Given the description of an element on the screen output the (x, y) to click on. 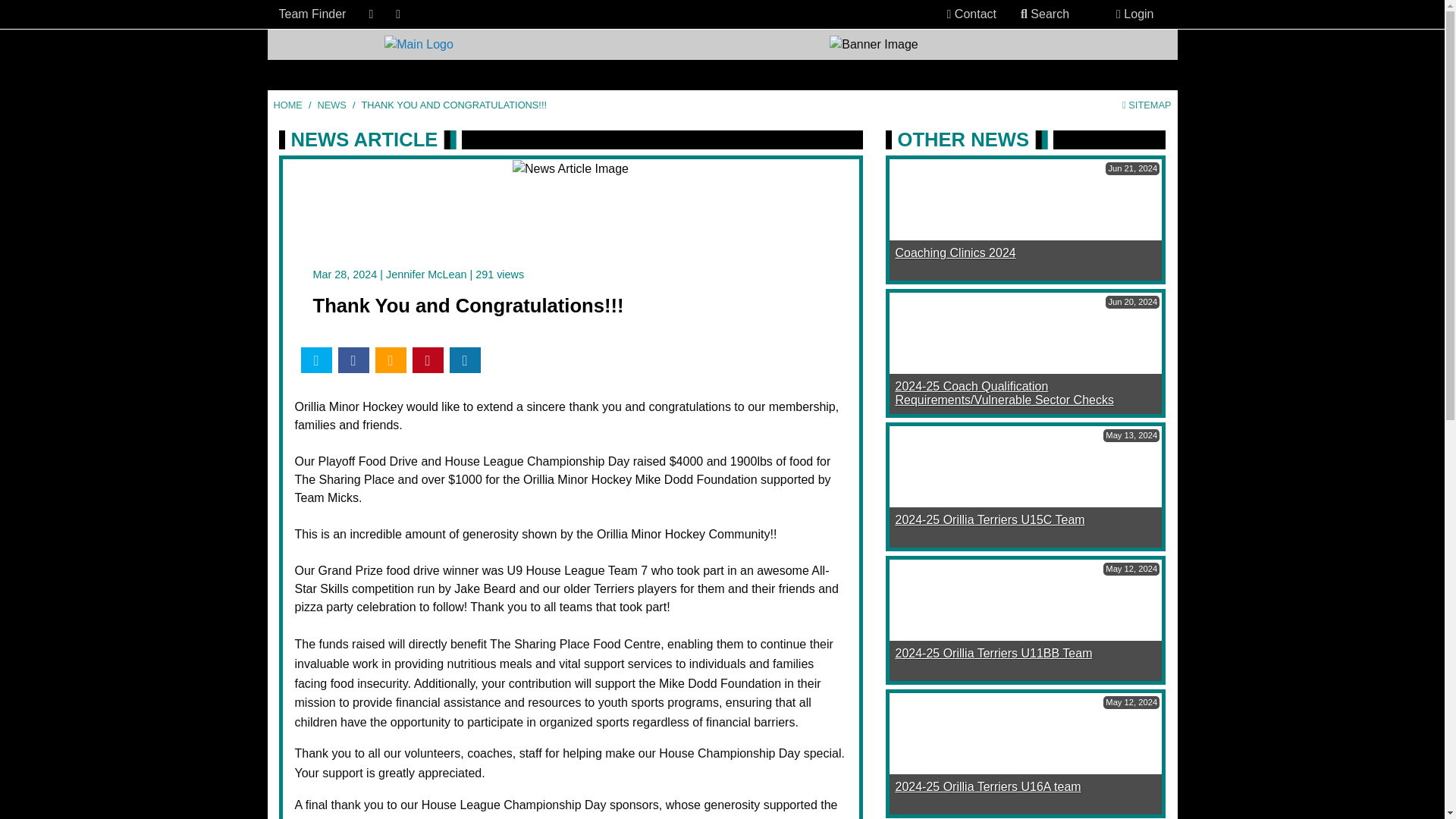
Team Finder (312, 13)
 Login (1134, 14)
 Search (1045, 14)
 Contact (971, 14)
